Given the description of an element on the screen output the (x, y) to click on. 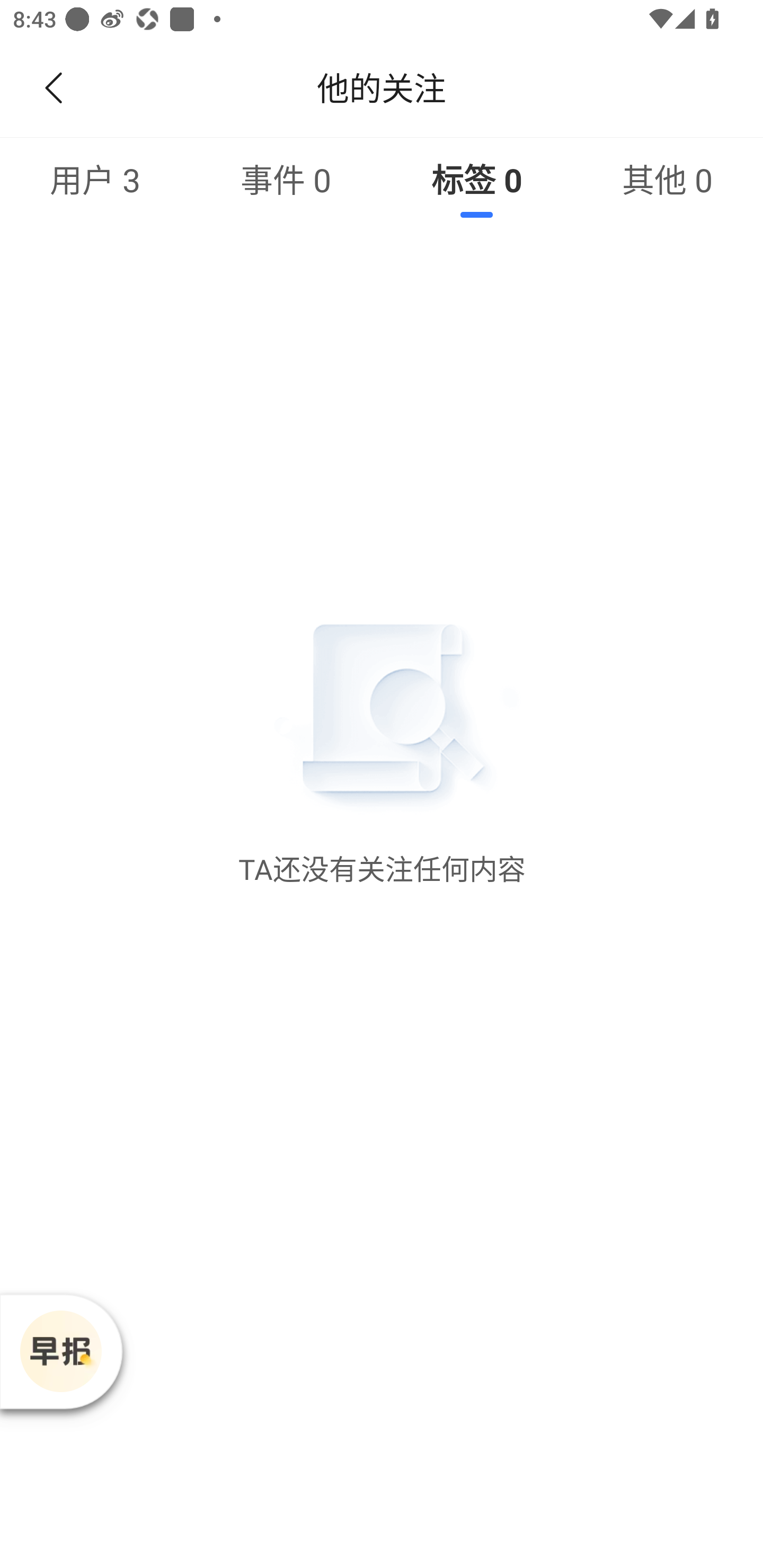
返回，可点击 (49, 87)
用户&nbsp;3，可选中 (95, 179)
事件&nbsp;0，可选中 (285, 179)
已选中标签&nbsp;0 (476, 179)
其他&nbsp;0，可选中 (667, 179)
播放器 (60, 1351)
